Given the description of an element on the screen output the (x, y) to click on. 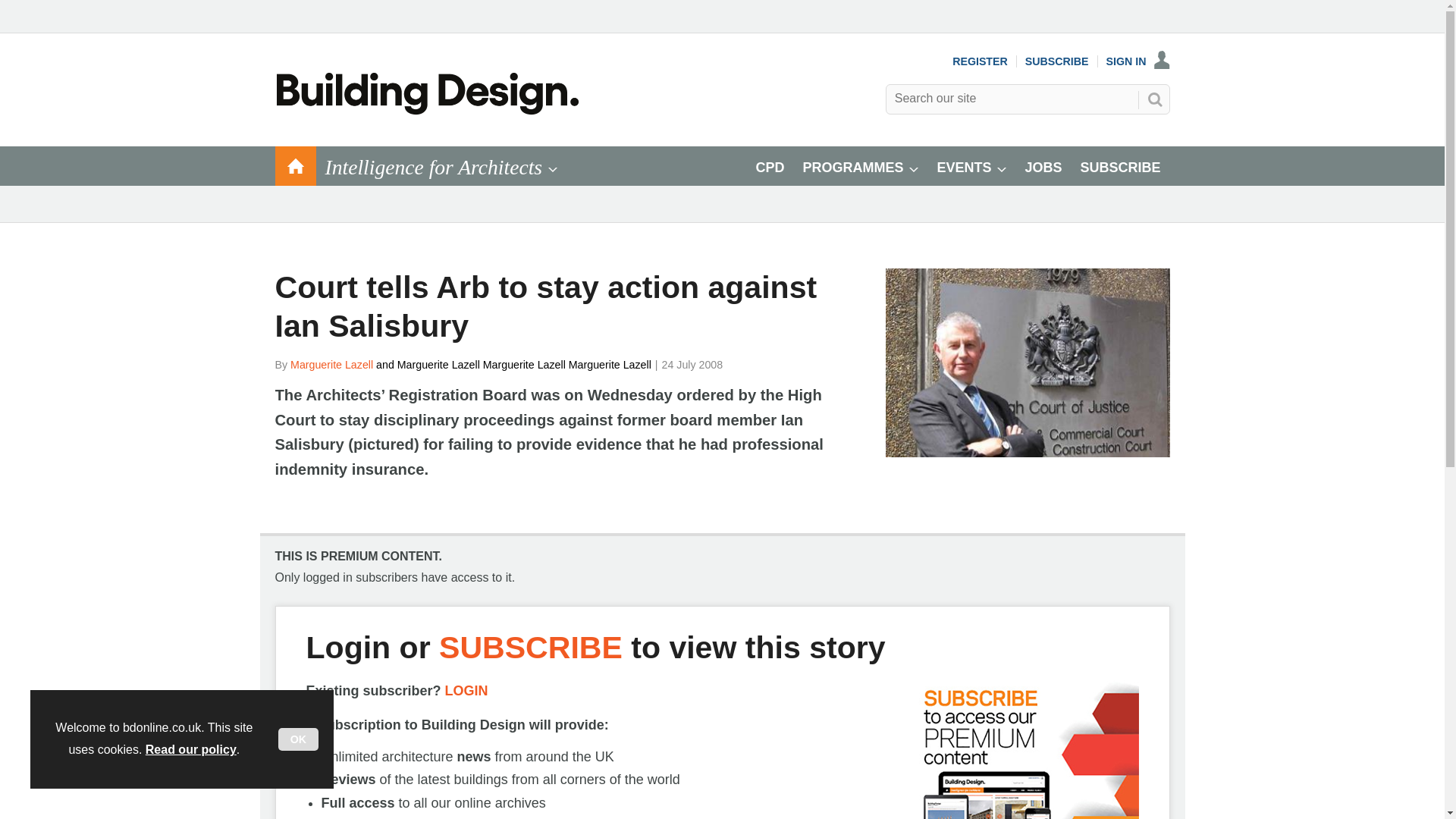
SUBSCRIBE (1057, 61)
OK (298, 739)
SIGN IN (1138, 61)
SEARCH (1153, 98)
Read our policy (190, 748)
REGISTER (979, 61)
